Given the description of an element on the screen output the (x, y) to click on. 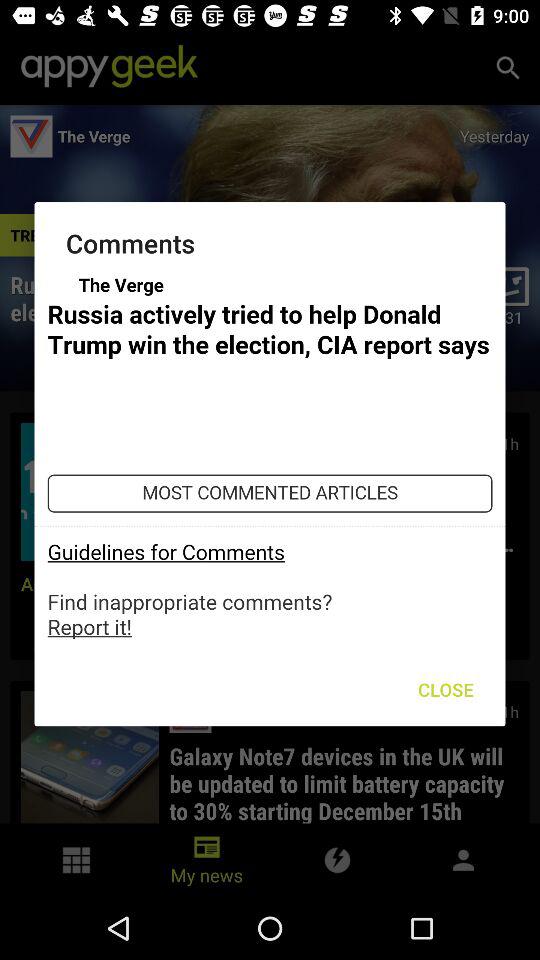
open article (269, 456)
